Given the description of an element on the screen output the (x, y) to click on. 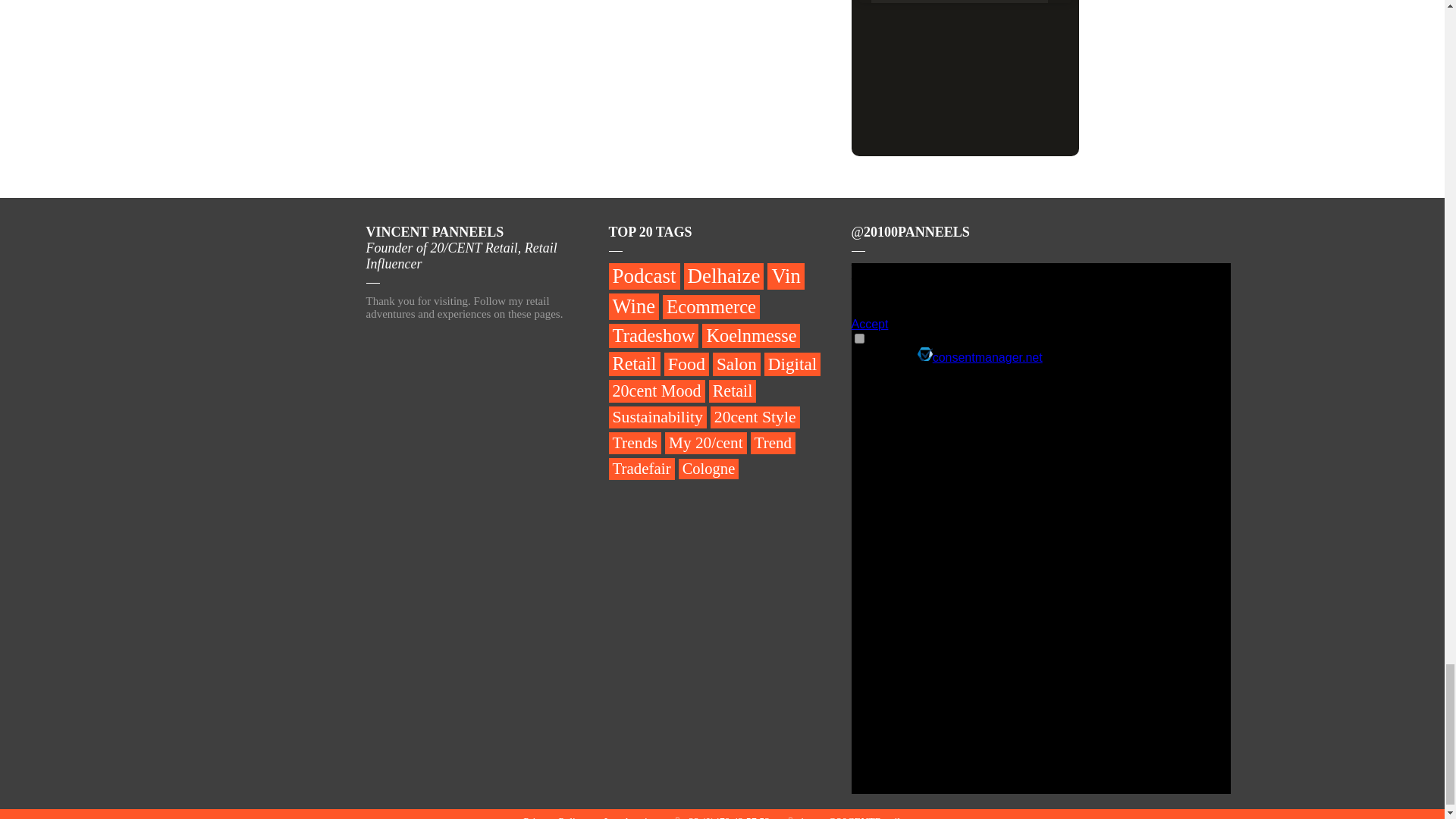
Retail (633, 363)
Podcast (643, 275)
Wine (633, 306)
Delhaize (724, 275)
Vin (785, 275)
Tradeshow (653, 335)
Retail (733, 391)
Digital (792, 363)
Sustainability (657, 417)
Koelnmesse (750, 335)
Ecommerce (711, 306)
Food (686, 363)
Salon (736, 363)
20cent Mood (656, 391)
